Given the description of an element on the screen output the (x, y) to click on. 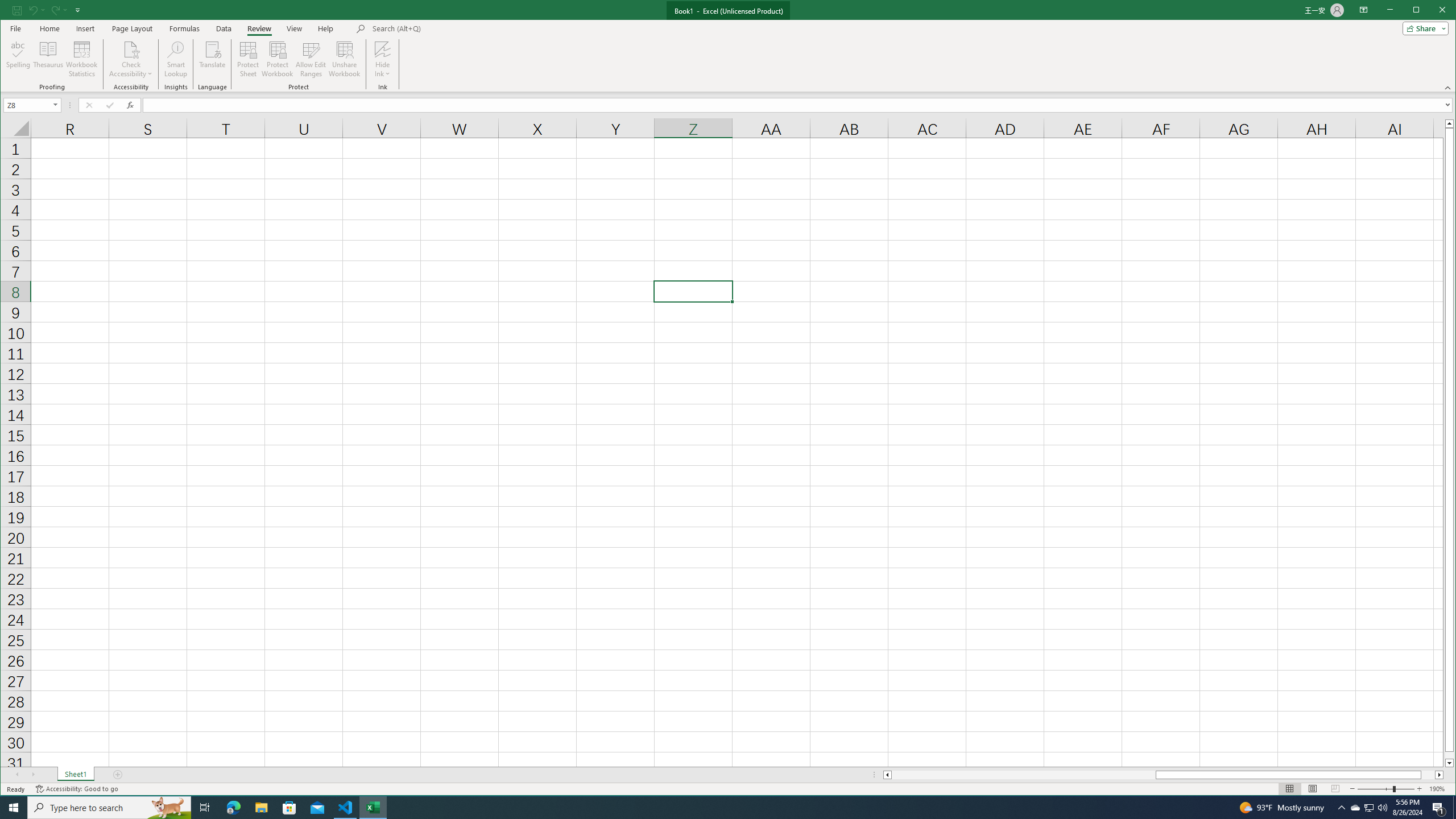
Search highlights icon opens search home window (167, 807)
Workbook Statistics (82, 59)
Type here to search (108, 807)
